Given the description of an element on the screen output the (x, y) to click on. 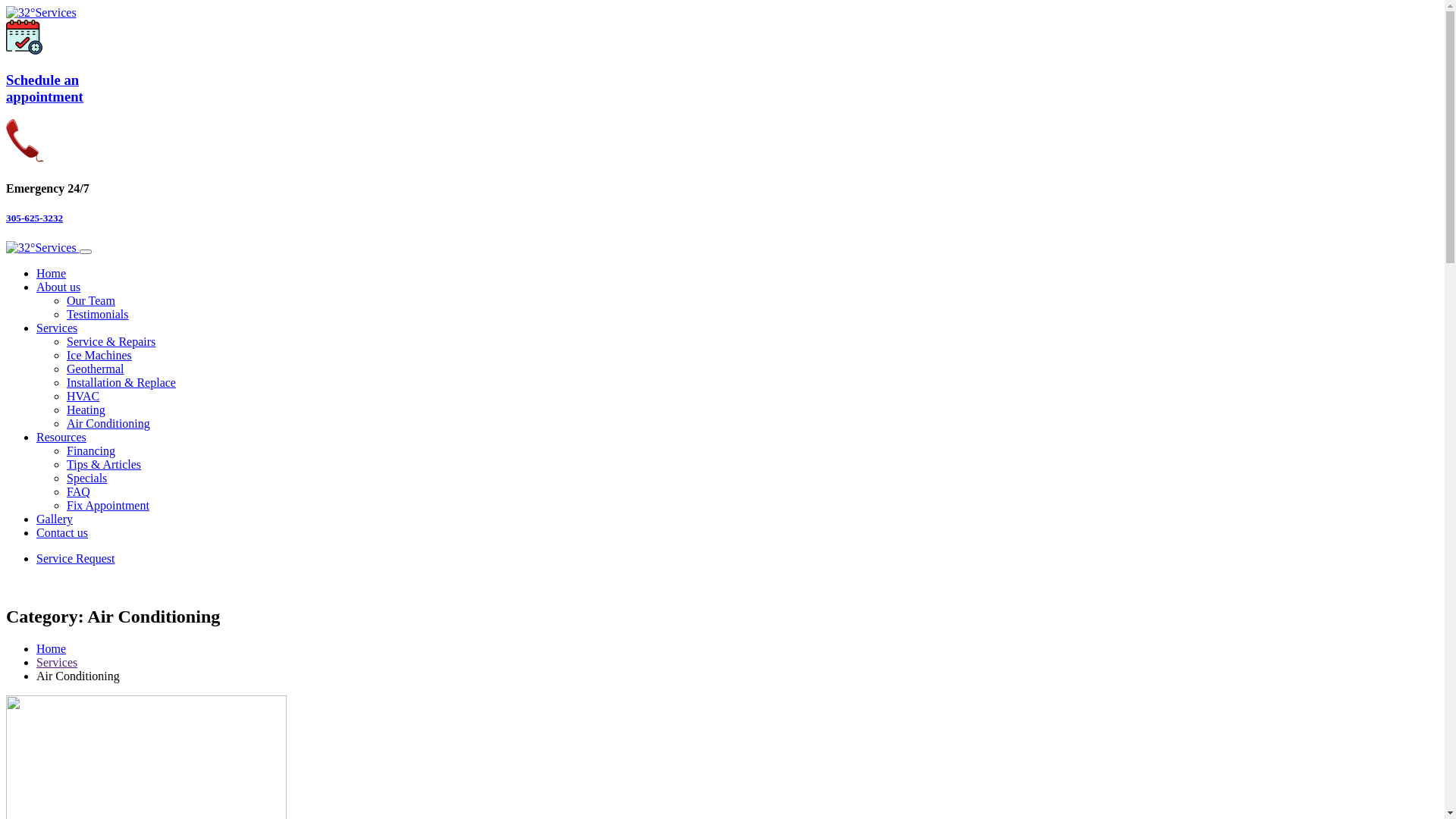
Services Element type: text (56, 661)
Contact us Element type: text (61, 532)
Geothermal Element type: text (95, 368)
Home Element type: text (50, 272)
Financing Element type: text (90, 450)
Installation & Replace Element type: text (120, 382)
Air Conditioning Element type: text (108, 423)
HVAC Element type: text (82, 395)
Tips & Articles Element type: text (103, 464)
About us Element type: text (58, 286)
Ice Machines Element type: text (98, 354)
Heating Element type: text (85, 409)
Service Request Element type: text (75, 558)
Services Element type: text (56, 327)
Service & Repairs Element type: text (110, 341)
Home Element type: text (50, 648)
AIR CONDITIONING - ICE MACHINES - REFRIGERATION Element type: hover (41, 12)
FAQ Element type: text (78, 491)
Testimonials Element type: text (97, 313)
305-625-3232 Element type: text (722, 218)
Specials Element type: text (86, 477)
Our Team Element type: text (90, 300)
Fix Appointment Element type: text (107, 504)
Resources Element type: text (61, 436)
Schedule an
appointment Element type: text (722, 88)
AIR CONDITIONING - ICE MACHINES - REFRIGERATION Element type: hover (42, 247)
Gallery Element type: text (54, 518)
